Given the description of an element on the screen output the (x, y) to click on. 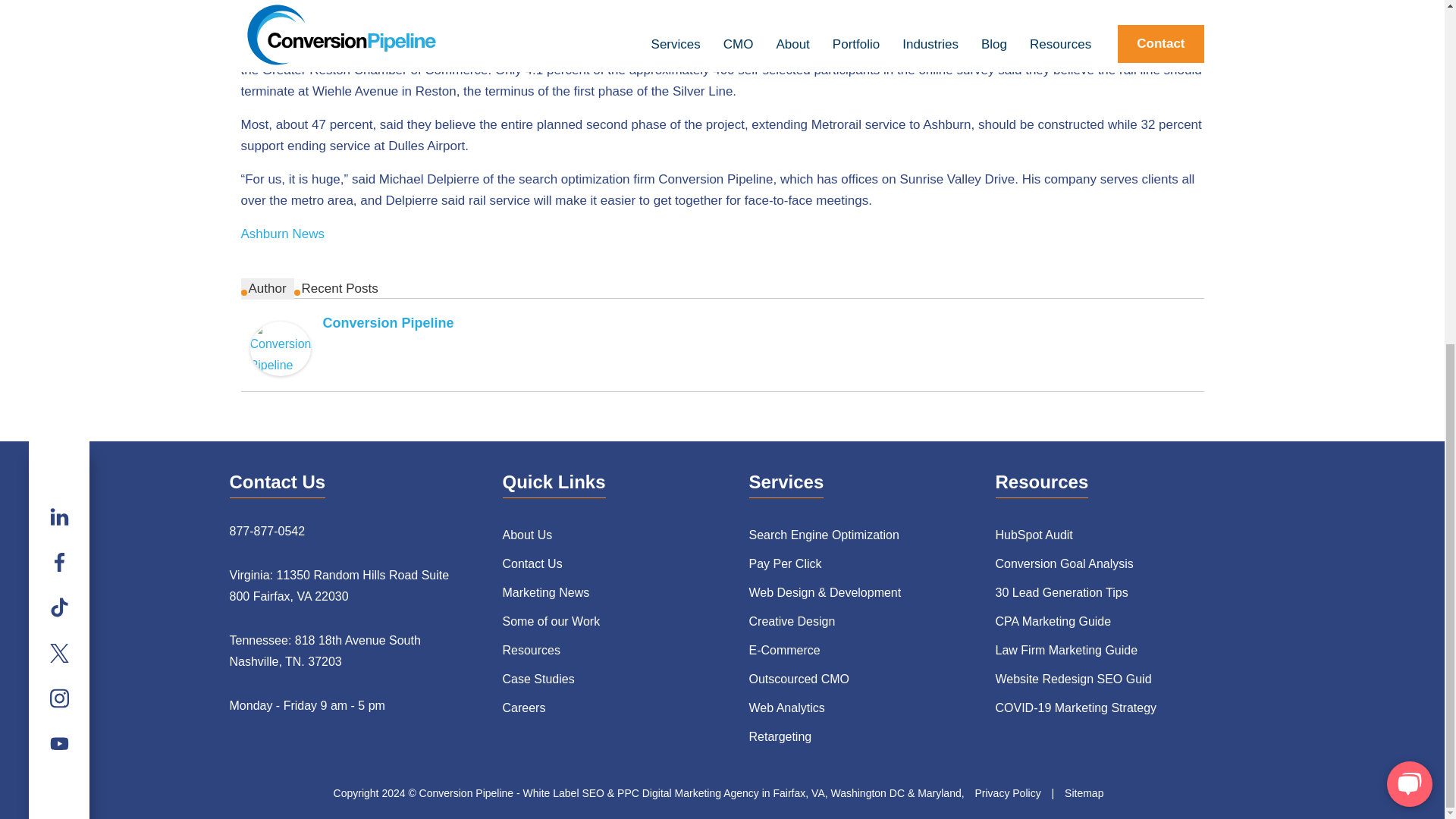
Conversion Pipeline (280, 348)
Sitemap (1083, 793)
